Given the description of an element on the screen output the (x, y) to click on. 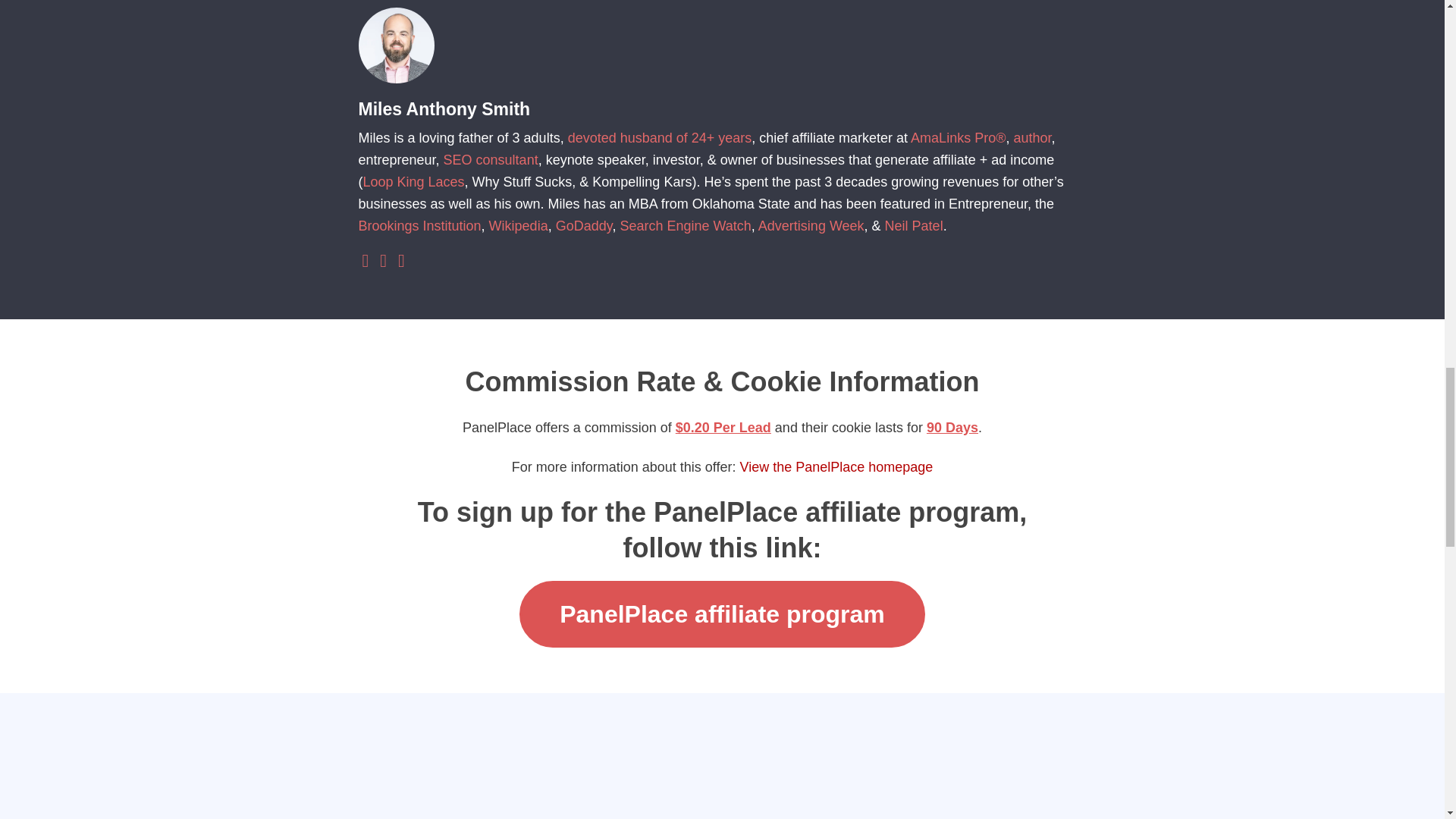
Loop King Laces (413, 181)
Search Engine Watch (685, 225)
Audible (401, 262)
Amazon (382, 262)
Brookings Institution (419, 225)
SEO consultant (491, 159)
author (1032, 137)
LinkedIn (365, 262)
Advertising Week (811, 225)
Wikipedia (518, 225)
GoDaddy (584, 225)
